Given the description of an element on the screen output the (x, y) to click on. 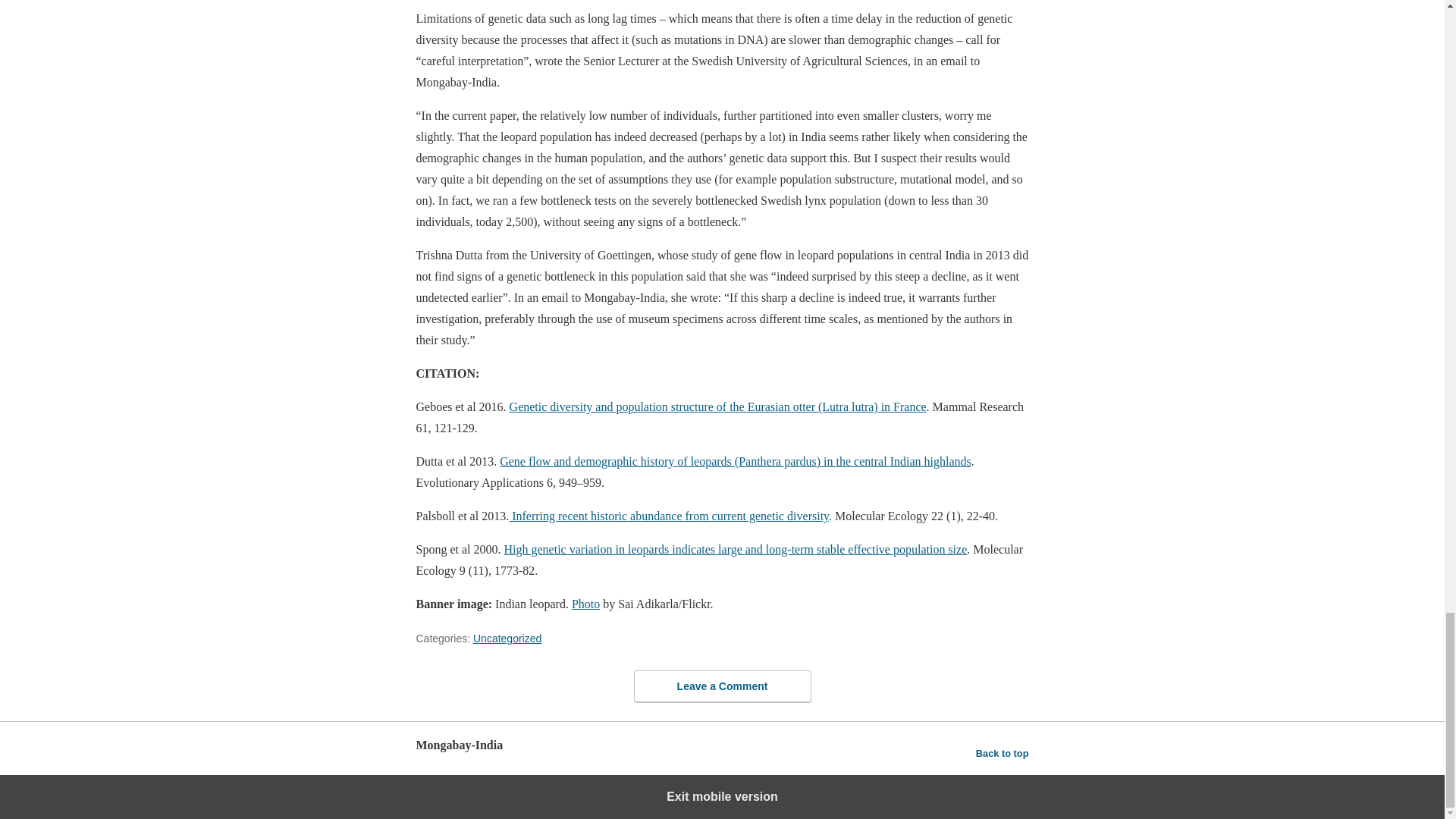
Photo (585, 603)
Leave a Comment (721, 686)
Back to top (1002, 753)
Uncategorized (507, 638)
